Given the description of an element on the screen output the (x, y) to click on. 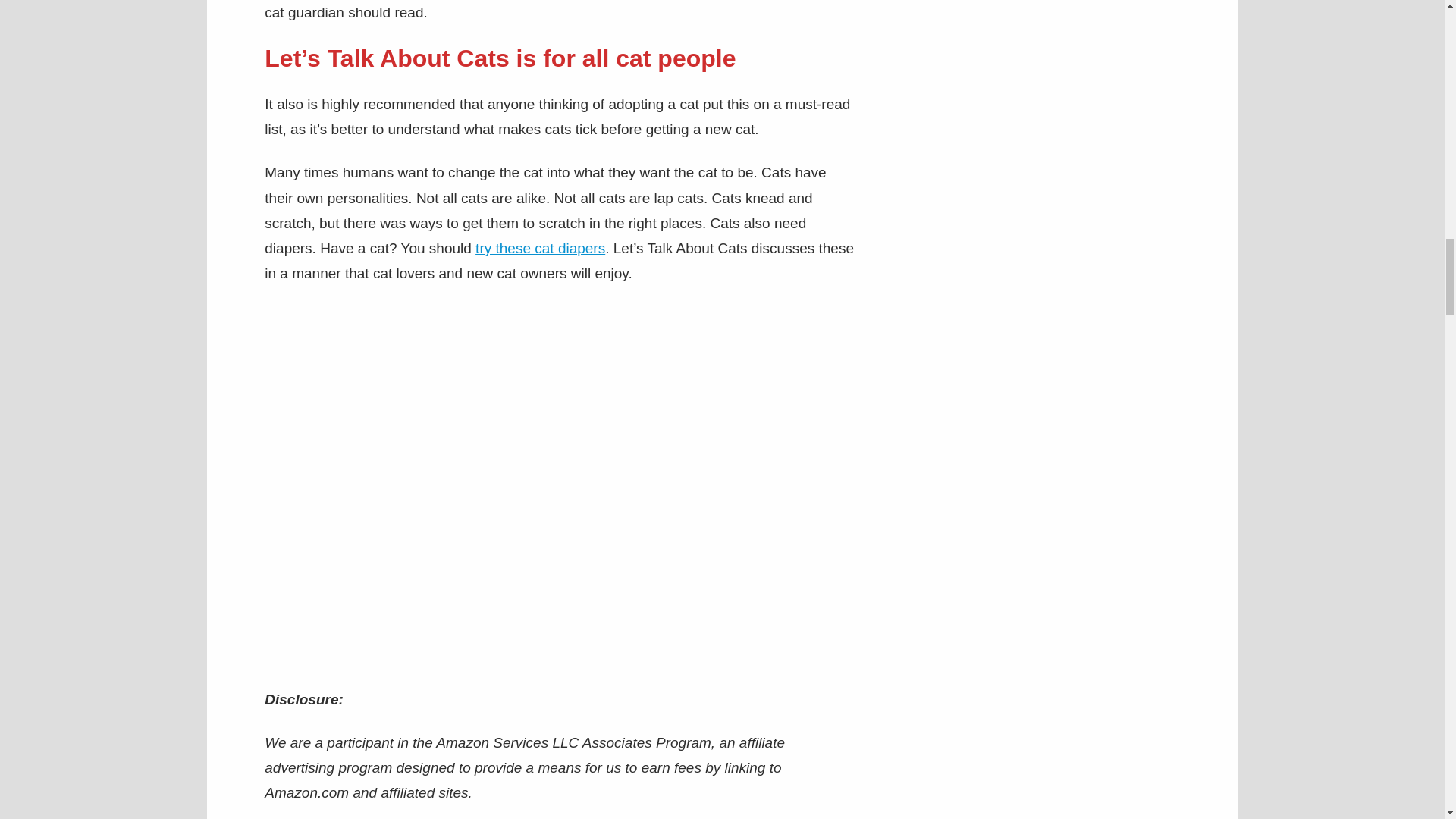
try these cat diapers (540, 248)
